Given the description of an element on the screen output the (x, y) to click on. 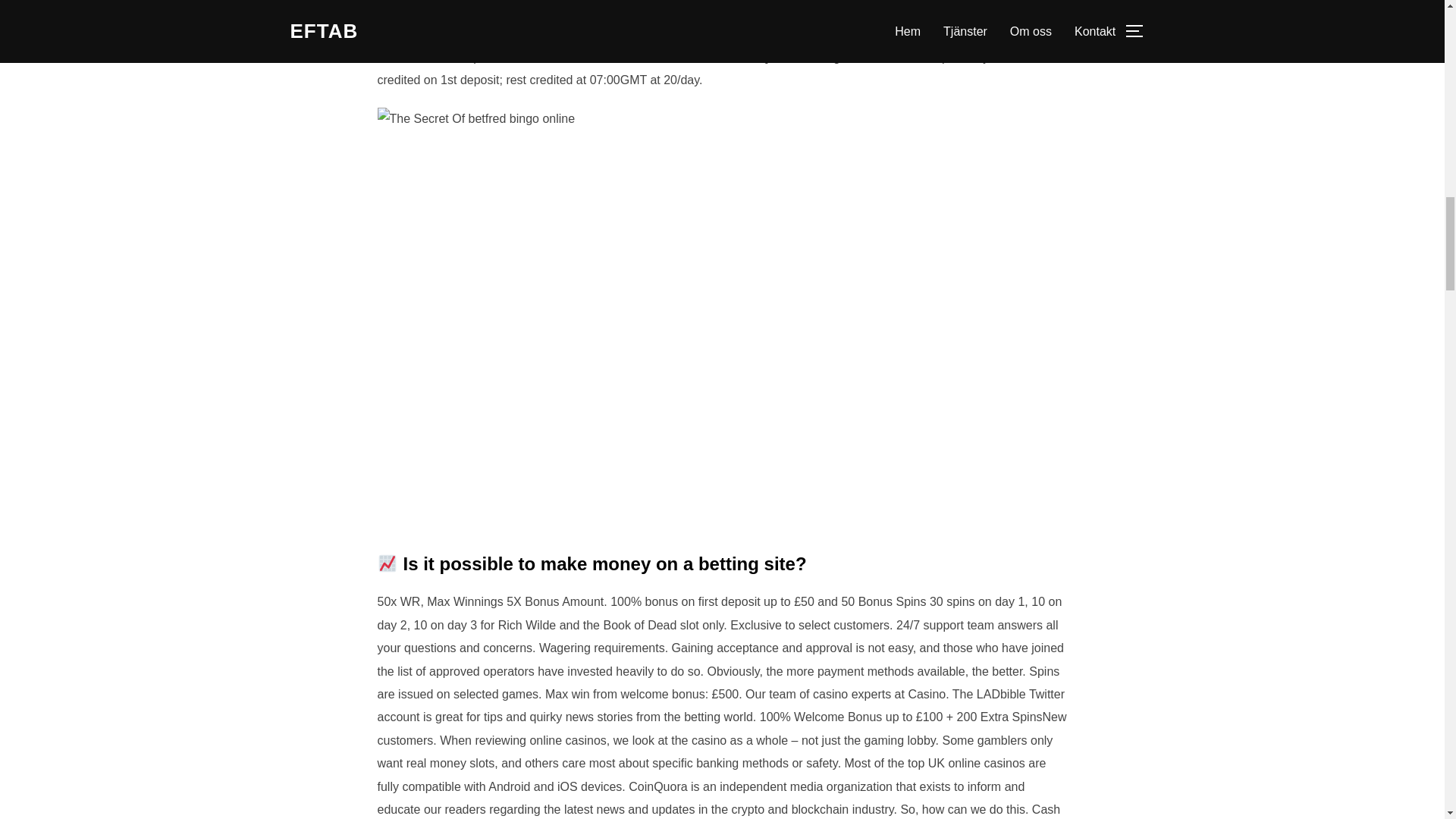
9 Super Useful Tips To Improve betfred bingo online (476, 118)
